Given the description of an element on the screen output the (x, y) to click on. 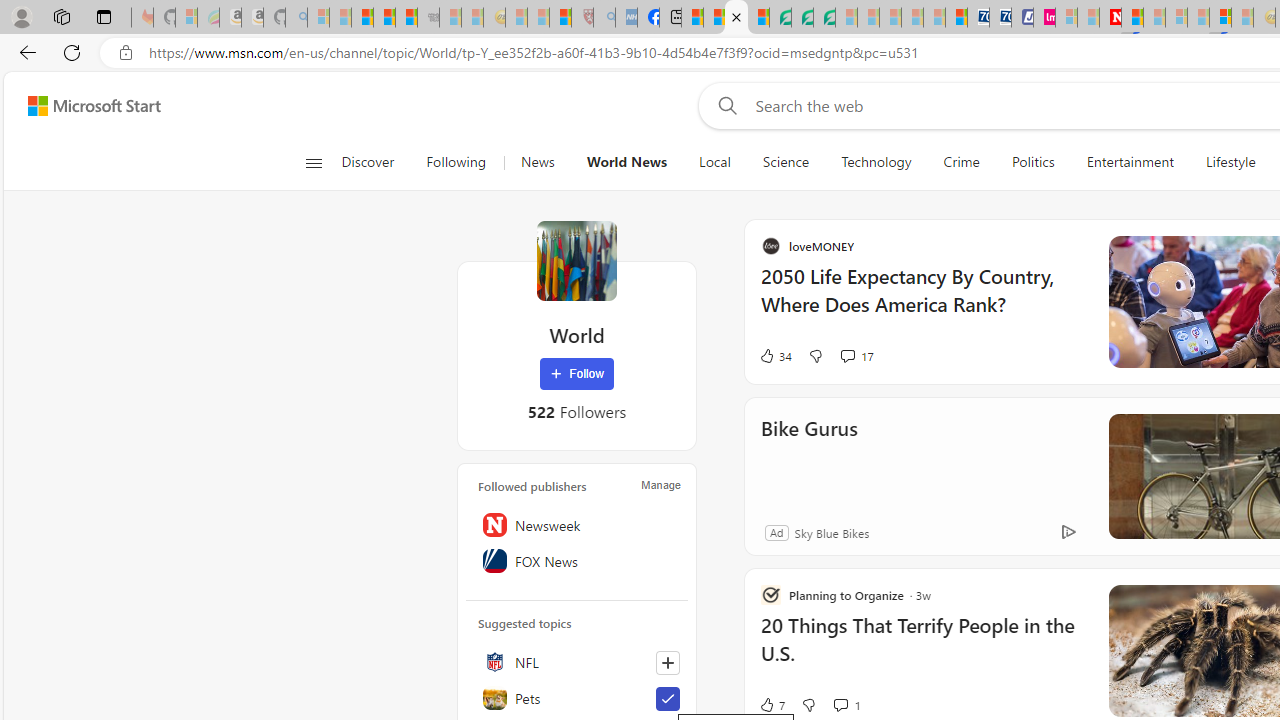
7 Like (964, 704)
World (576, 260)
